Given the description of an element on the screen output the (x, y) to click on. 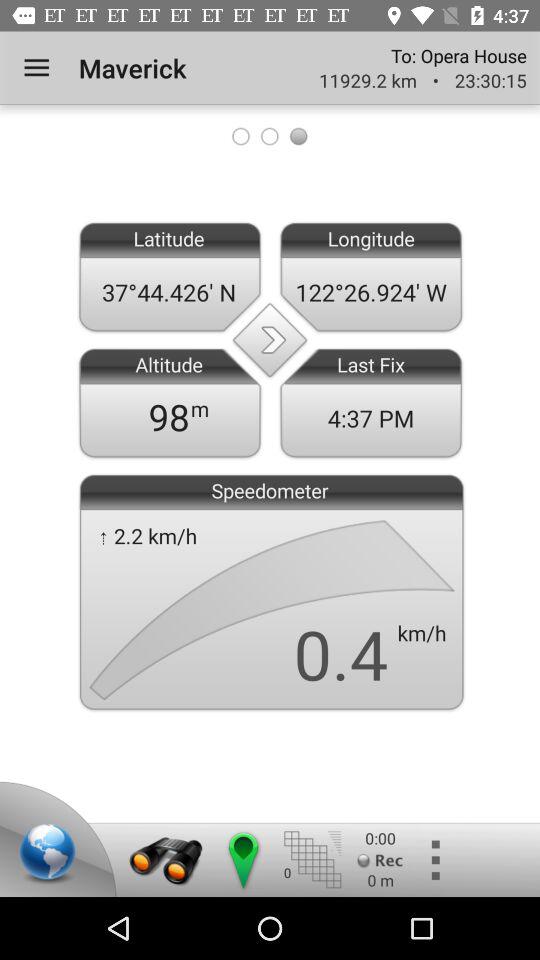
click settings (434, 860)
